Given the description of an element on the screen output the (x, y) to click on. 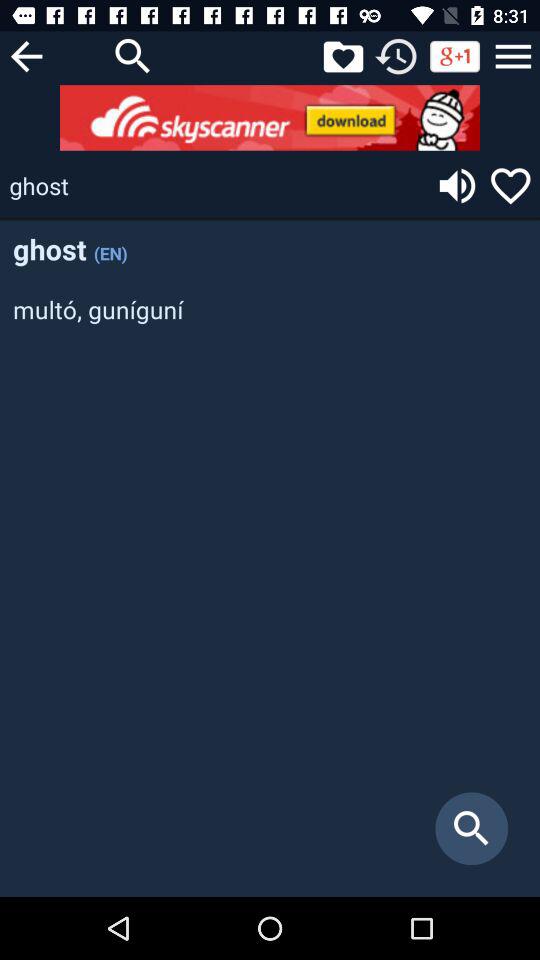
select word as favourite (510, 185)
